Given the description of an element on the screen output the (x, y) to click on. 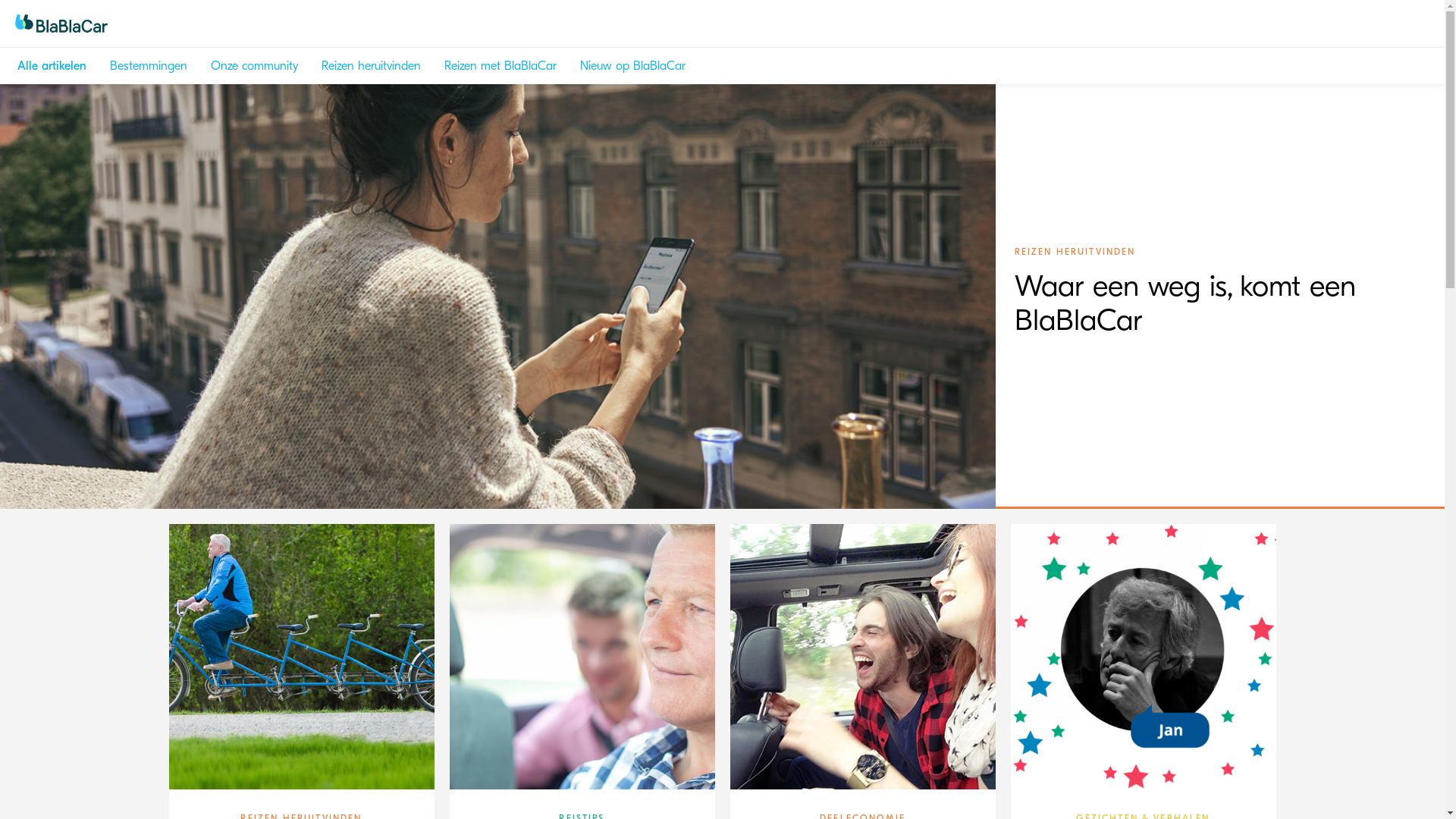
Reizen heruitvinden Element type: text (370, 65)
BlaBlaCar Element type: text (92, 23)
Nieuw op BlaBlaCar Element type: text (632, 65)
Waar een weg is, komt een BlaBlaCar Element type: text (1186, 315)
Bestemmingen Element type: text (148, 65)
Alle artikelen Element type: text (51, 65)
Reizen met BlaBlaCar Element type: text (500, 65)
Onze community Element type: text (253, 65)
REIZEN HERUITVINDEN Element type: text (1070, 251)
